Given the description of an element on the screen output the (x, y) to click on. 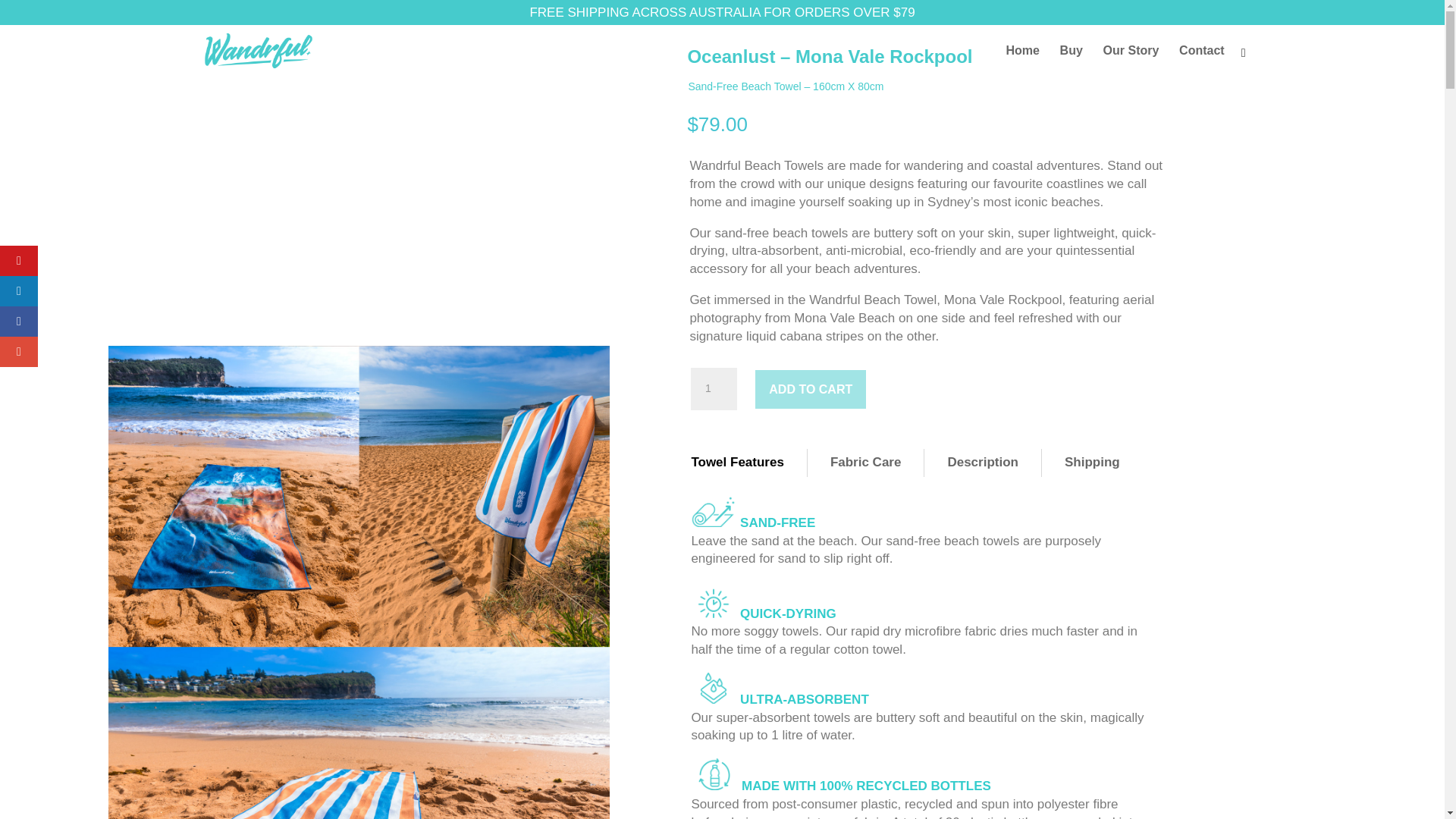
1 (713, 388)
Fabric Care (866, 462)
ADD TO CART (810, 389)
Our Story (1130, 73)
Shipping (1092, 462)
Description (982, 462)
Towel Features (737, 462)
